Given the description of an element on the screen output the (x, y) to click on. 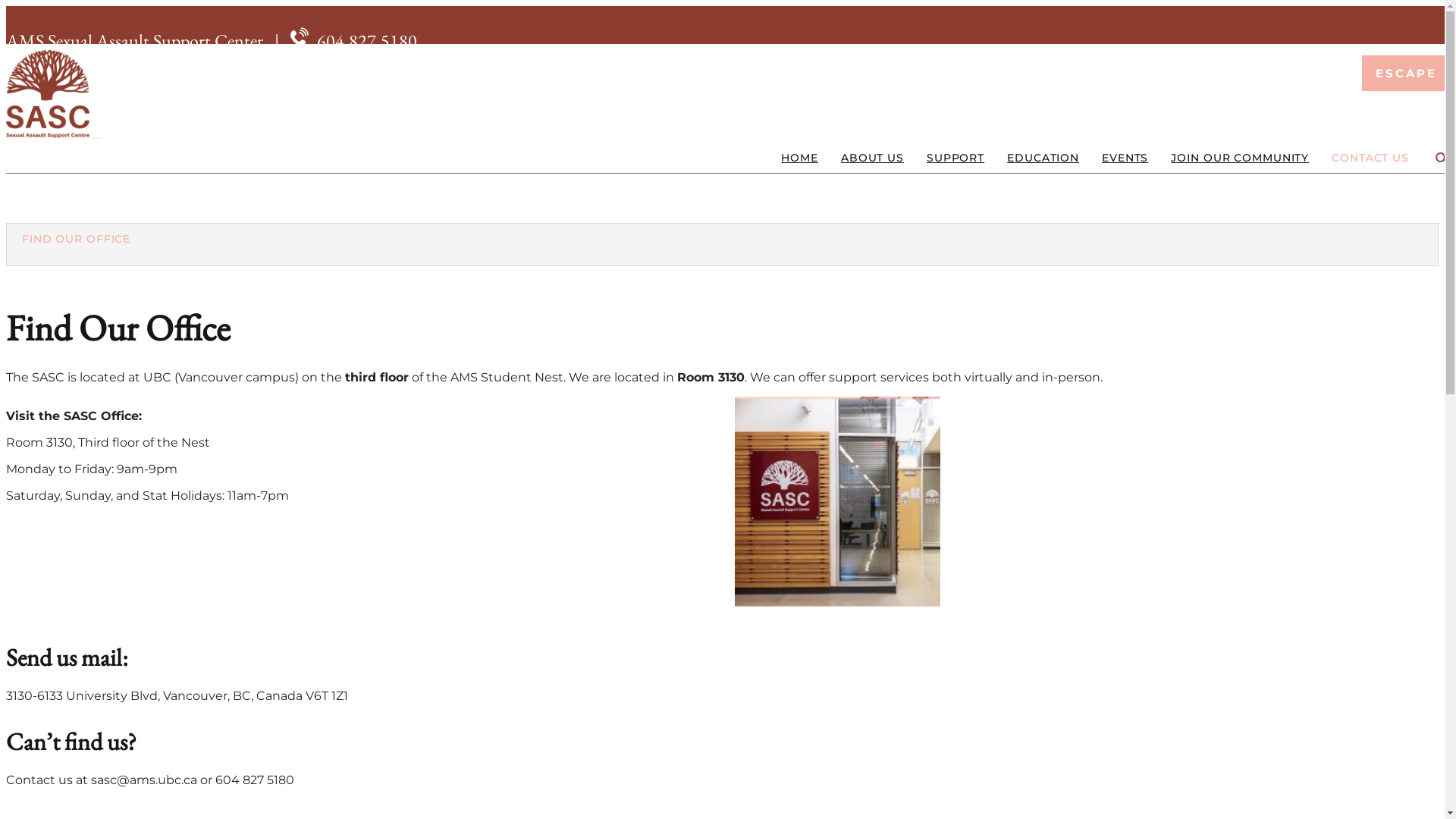
ABOUT US Element type: text (872, 157)
604.827.5180 Element type: text (366, 40)
EDUCATION Element type: text (1042, 157)
HOME Element type: text (799, 157)
CONTACT US Element type: text (1370, 157)
SUPPORT Element type: text (955, 157)
ESCAPE Element type: text (1405, 73)
EVENTS Element type: text (1124, 157)
JOIN OUR COMMUNITY Element type: text (1239, 157)
FIND OUR OFFICE Element type: text (75, 238)
